Given the description of an element on the screen output the (x, y) to click on. 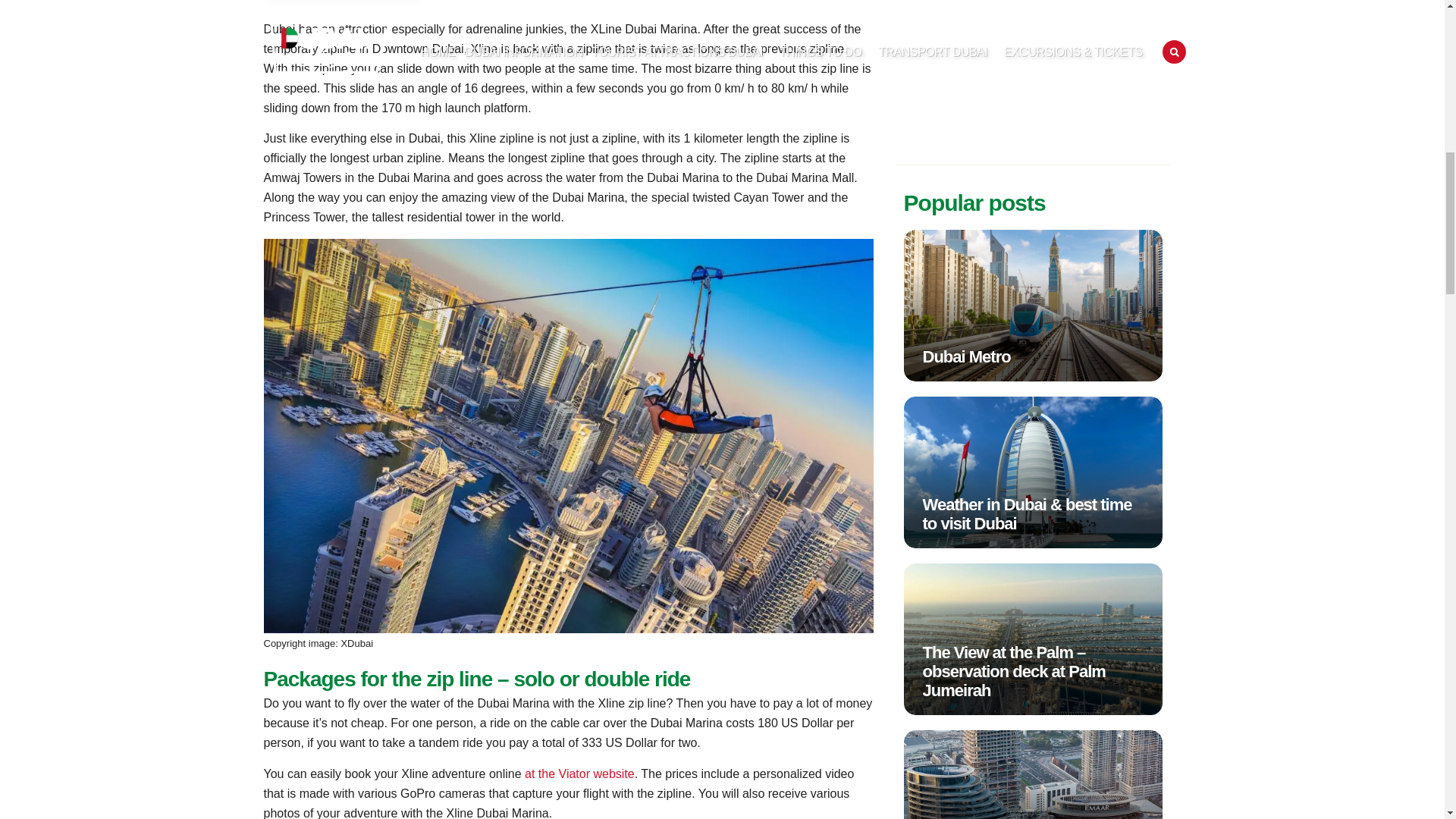
Advertisement (1032, 73)
